Given the description of an element on the screen output the (x, y) to click on. 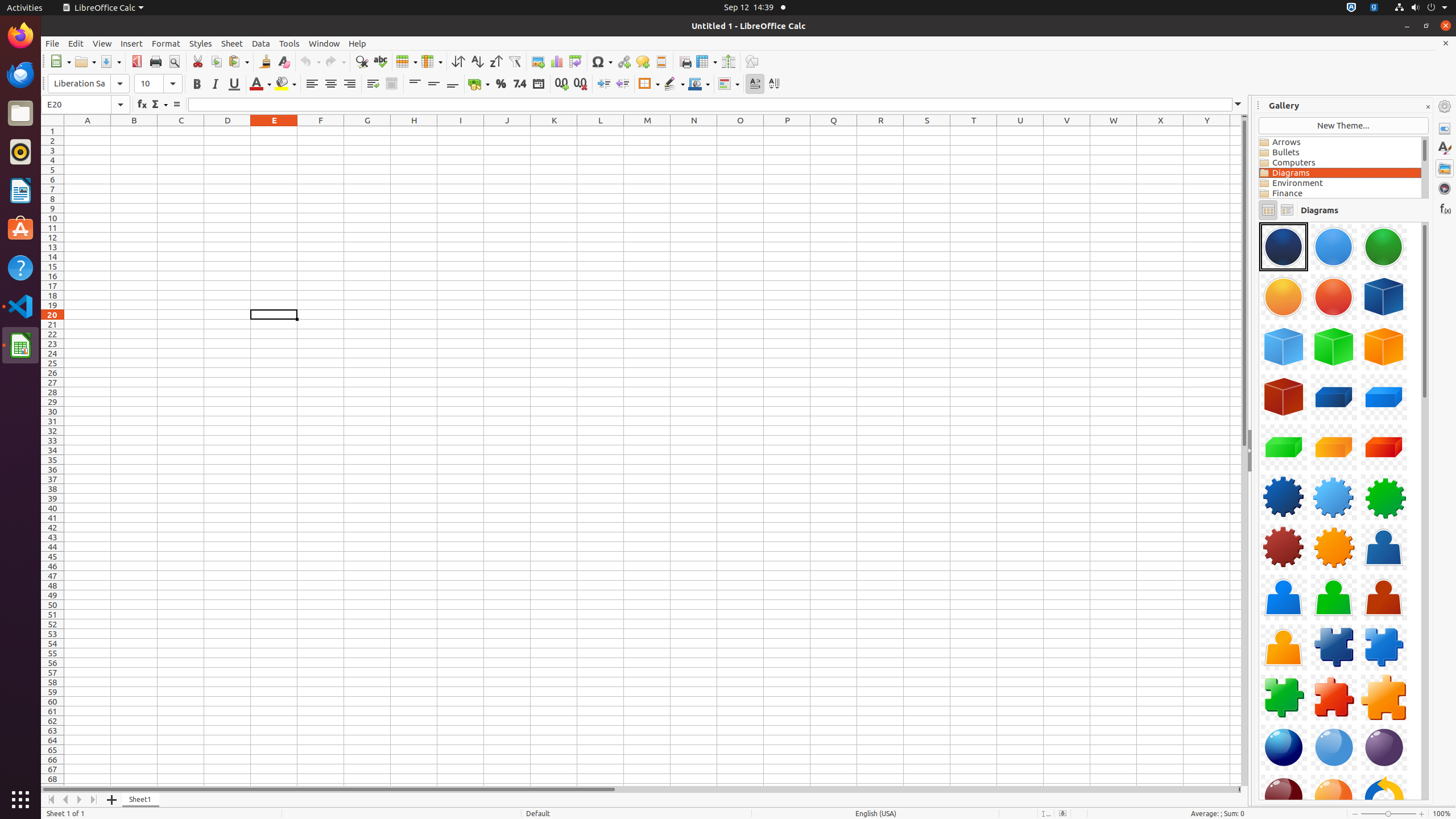
Component-Gear05-Orange Element type: list-item (1333, 546)
Copy Element type: push-button (216, 61)
LibreOffice Calc Element type: menu (102, 7)
Cut Element type: push-button (197, 61)
Font Color Element type: push-button (260, 83)
